Given the description of an element on the screen output the (x, y) to click on. 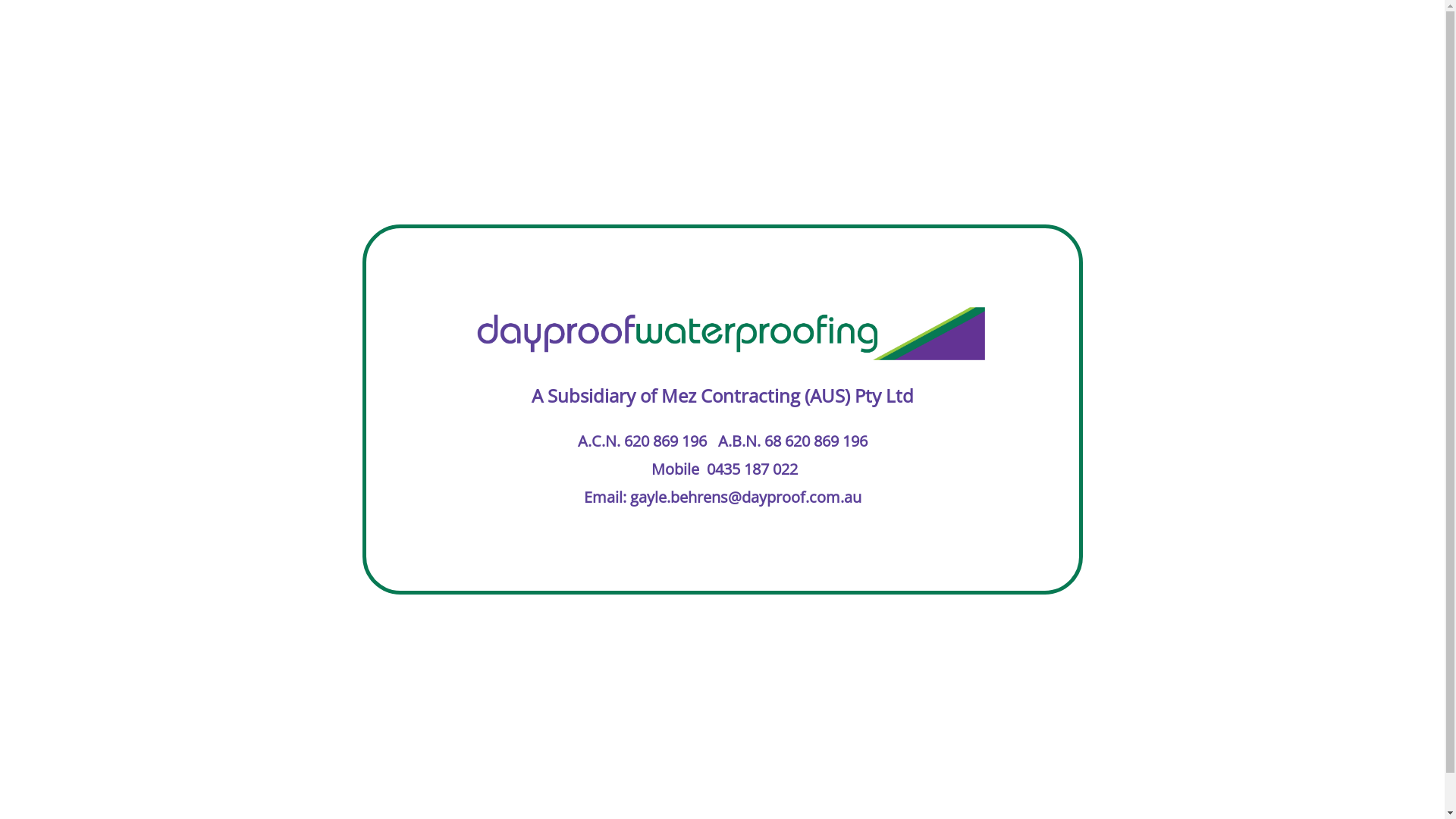
0435 187 022 Element type: text (751, 468)
gayle.behrens@dayproof.com.au Element type: text (744, 496)
